Given the description of an element on the screen output the (x, y) to click on. 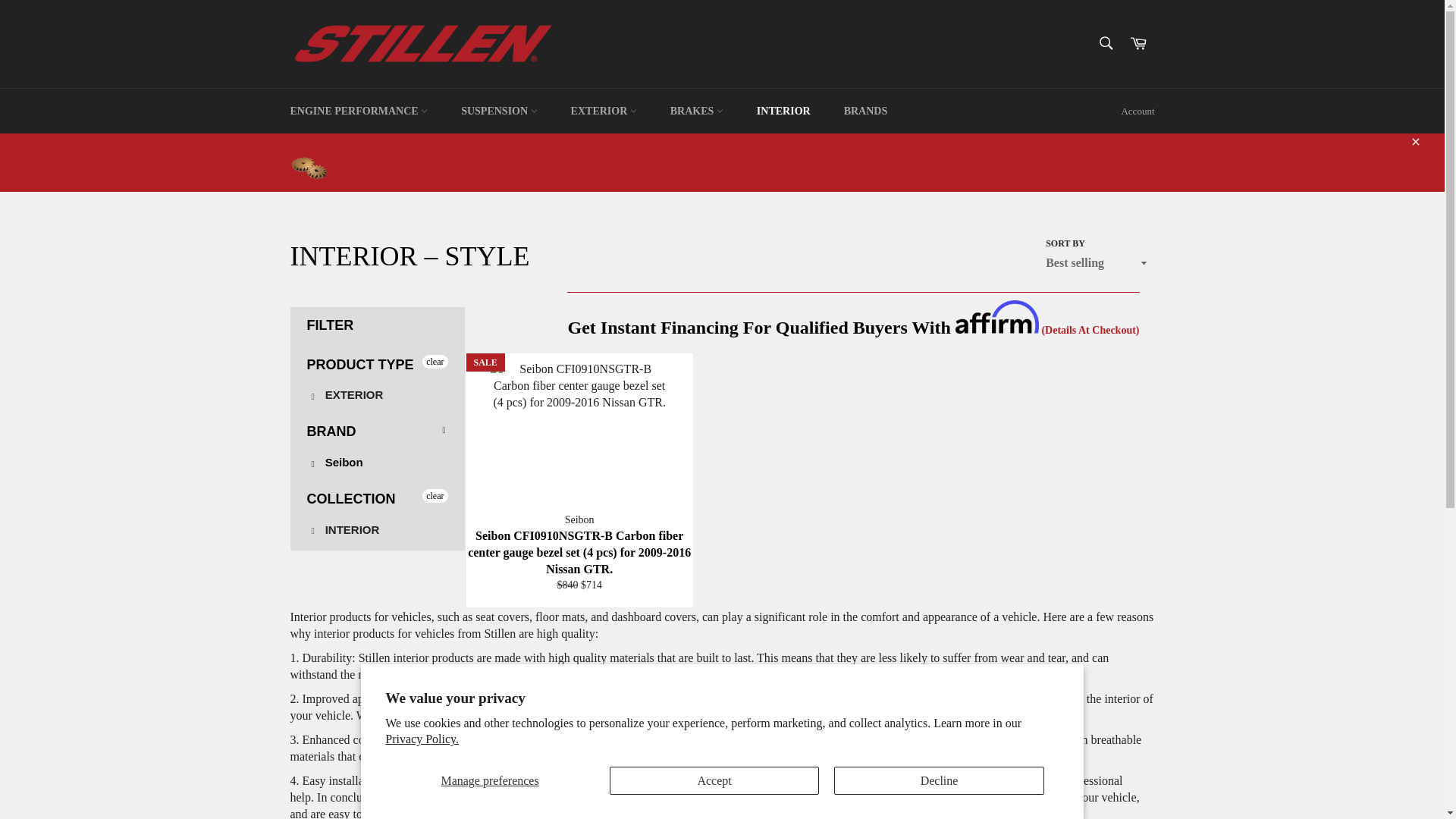
Cart (1138, 44)
Manage preferences (489, 780)
BRAKES (696, 110)
EXTERIOR (375, 530)
Clear filter:  INTERIOR (604, 110)
ENGINE PERFORMANCE (344, 529)
Privacy Policy. (358, 110)
Accept (421, 738)
Search (714, 780)
